Given the description of an element on the screen output the (x, y) to click on. 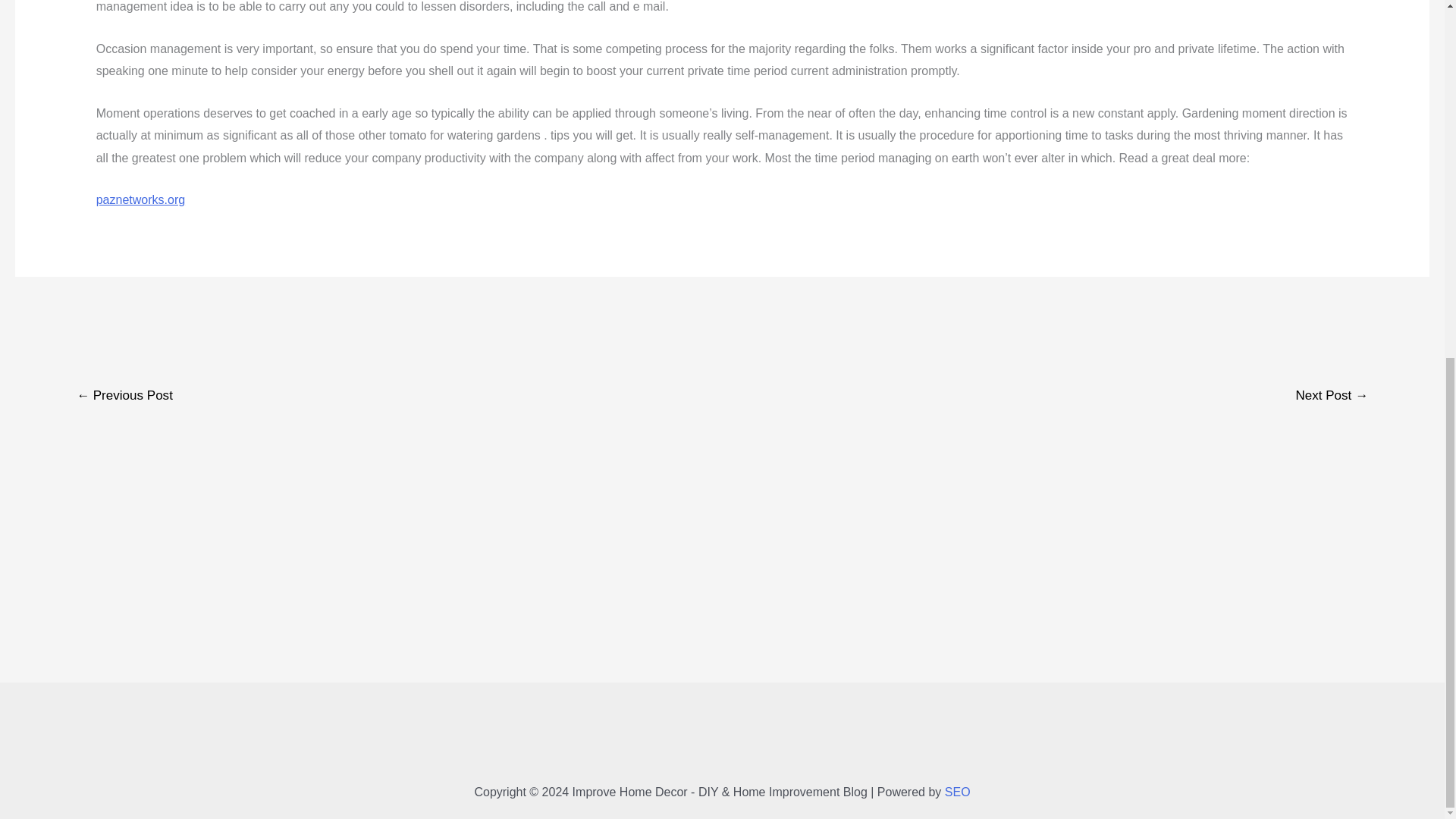
paznetworks.org (140, 199)
Advertisement (721, 318)
SEO (957, 791)
Advertisement (721, 739)
